Given the description of an element on the screen output the (x, y) to click on. 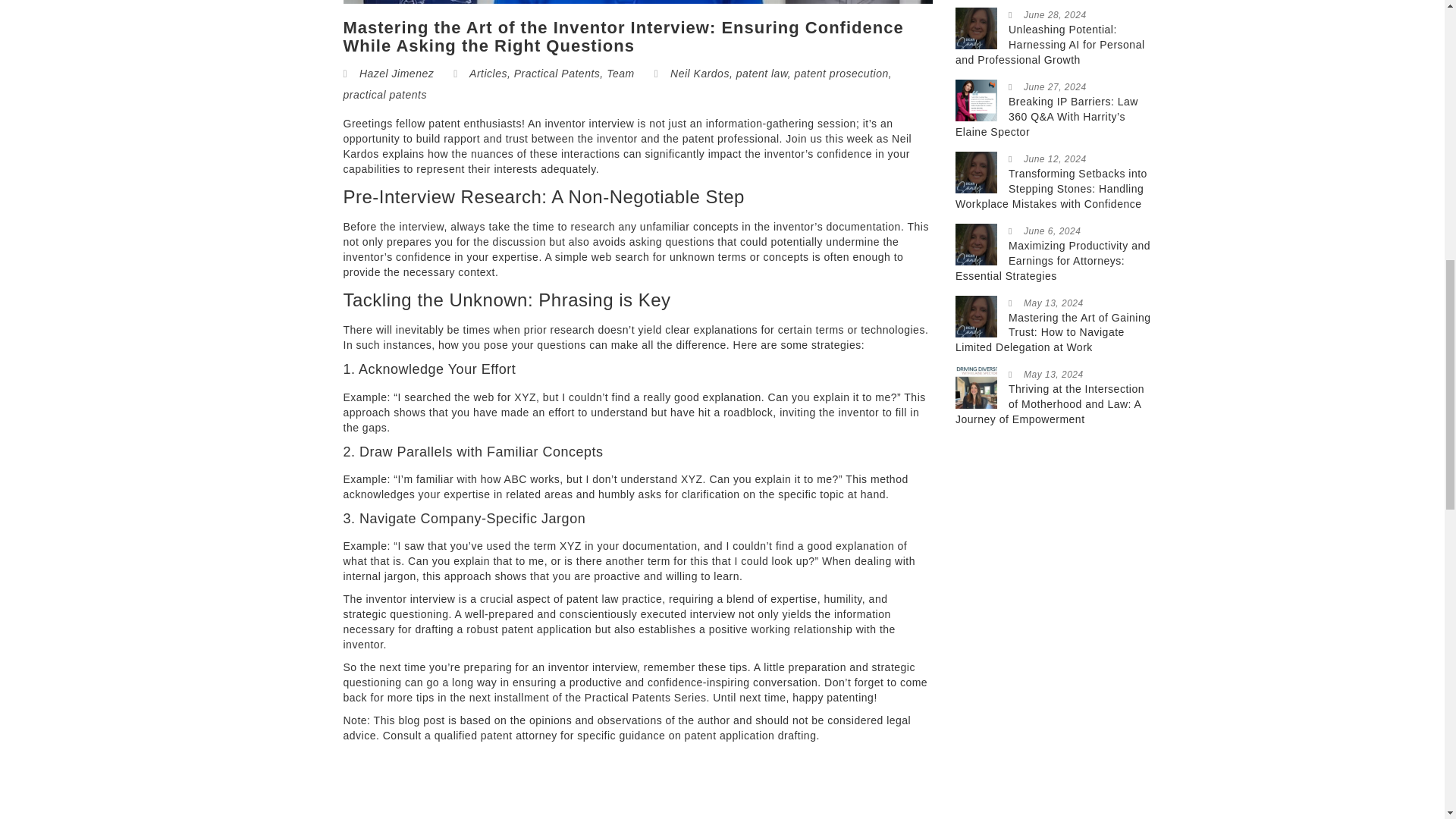
View all posts by Hazel Jimenez (396, 73)
